Given the description of an element on the screen output the (x, y) to click on. 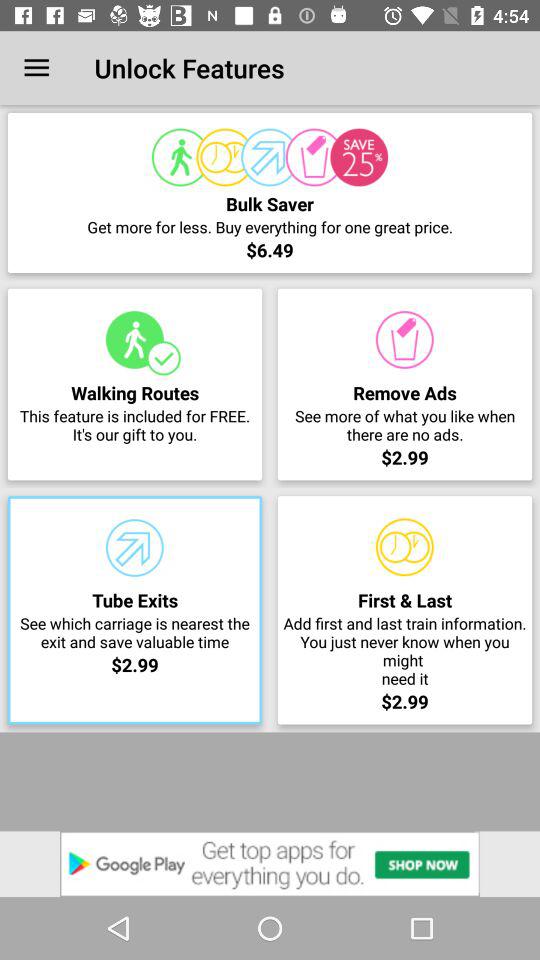
turn on icon next to the unlock features item (36, 68)
